Given the description of an element on the screen output the (x, y) to click on. 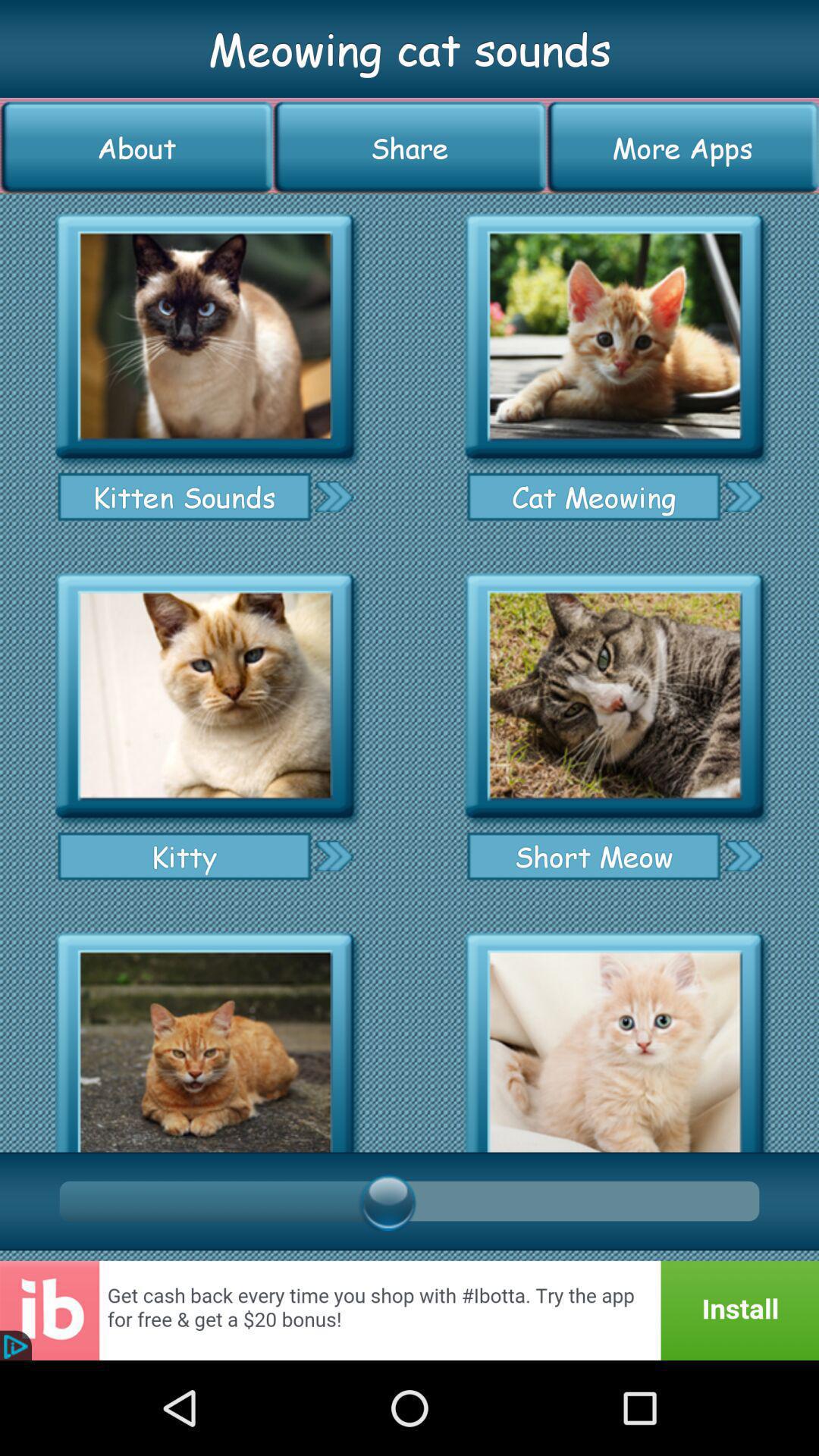
select the short meow item (593, 855)
